Given the description of an element on the screen output the (x, y) to click on. 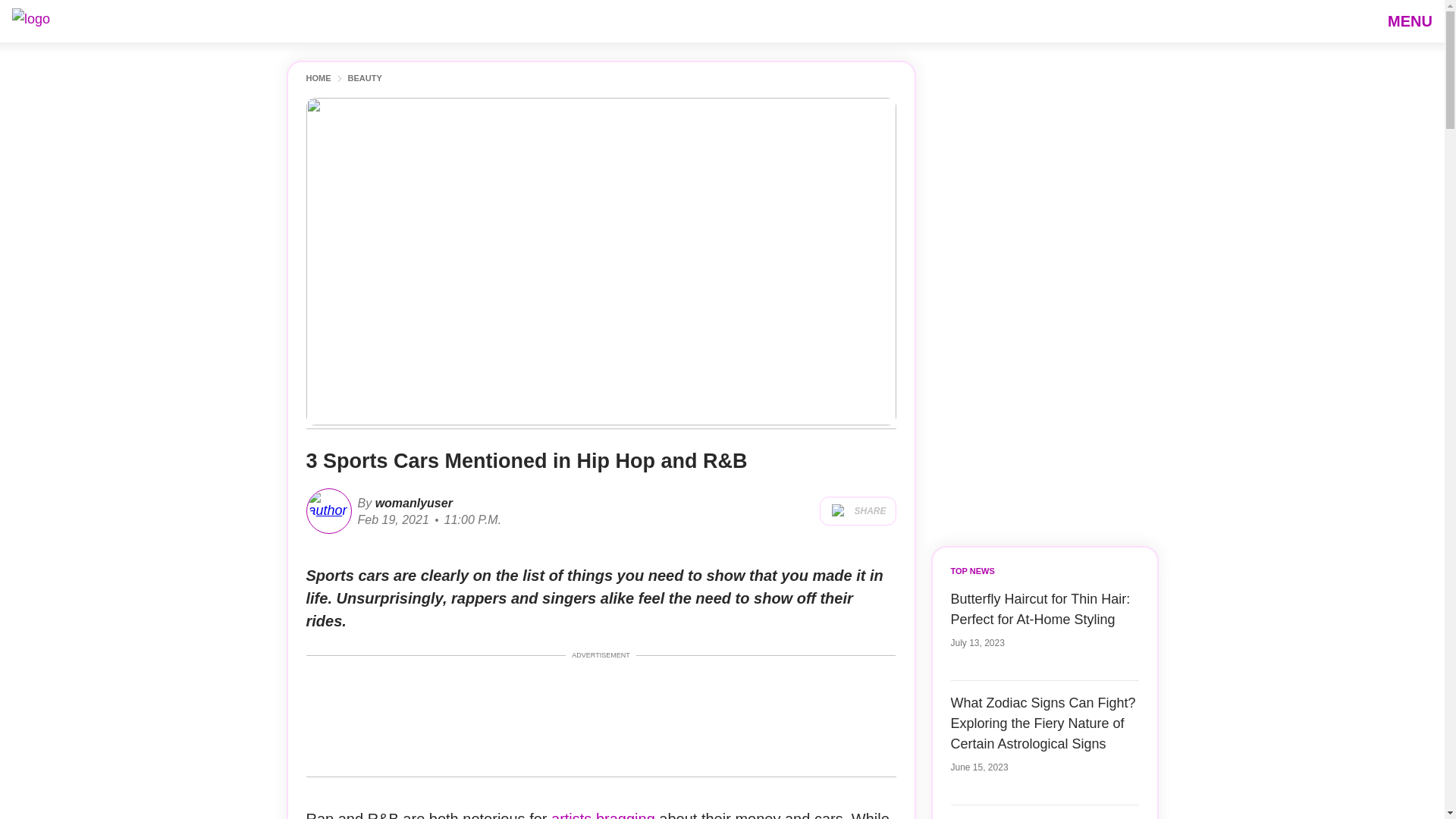
BEAUTY (364, 78)
artists bragging (603, 814)
HOME (318, 78)
MENU (1409, 20)
SHARE (857, 510)
womanlyuser (411, 502)
